Given the description of an element on the screen output the (x, y) to click on. 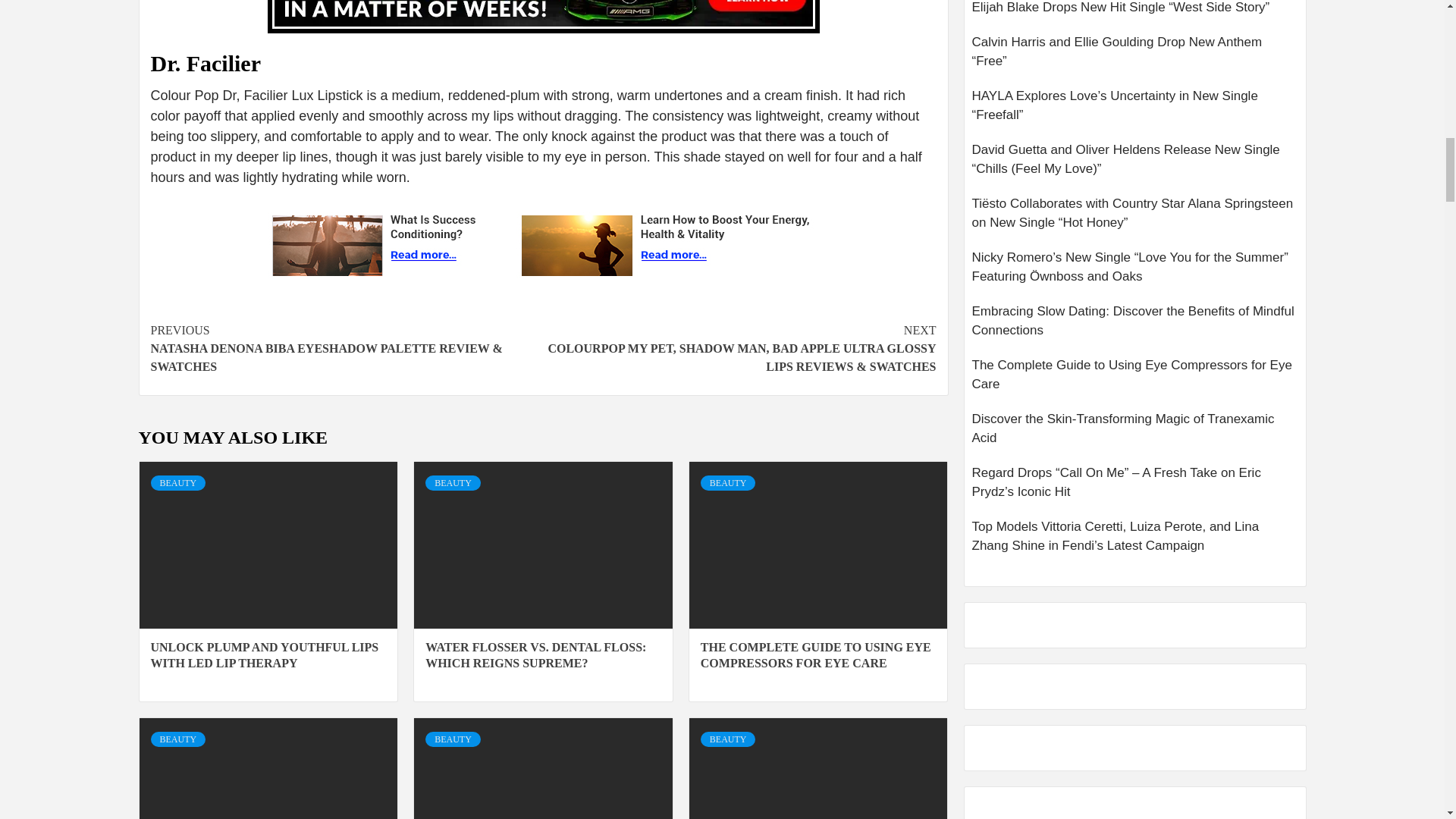
WATER FLOSSER VS. DENTAL FLOSS: WHICH REIGNS SUPREME? (535, 654)
BEAUTY (177, 482)
BEAUTY (452, 482)
UNLOCK PLUMP AND YOUTHFUL LIPS WITH LED LIP THERAPY (263, 654)
